Given the description of an element on the screen output the (x, y) to click on. 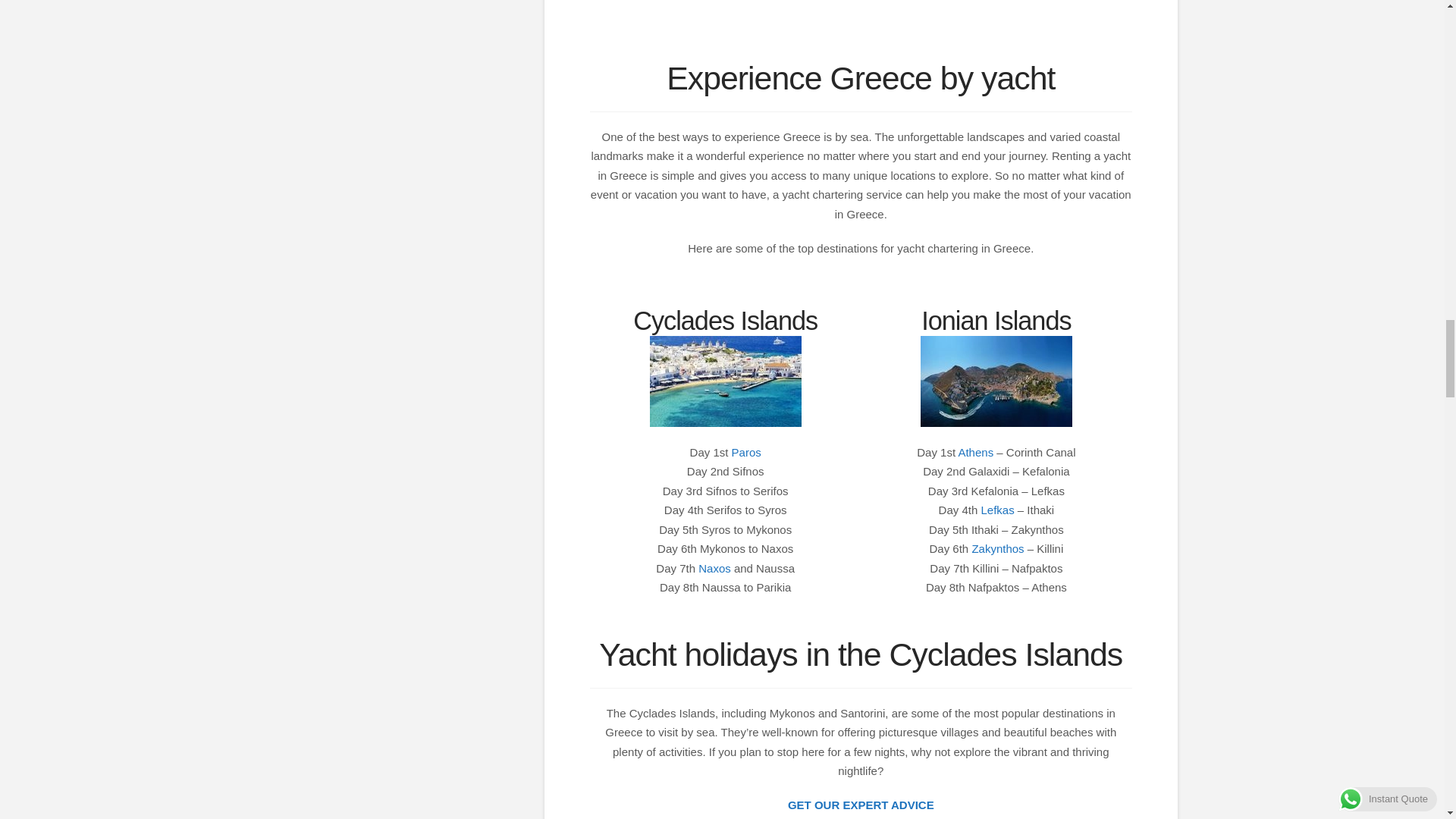
Zakynthos (997, 548)
Lefkas (996, 509)
Naxos (714, 567)
Athens (975, 451)
Paros (746, 451)
GET OUR EXPERT ADVICE (860, 804)
